Given the description of an element on the screen output the (x, y) to click on. 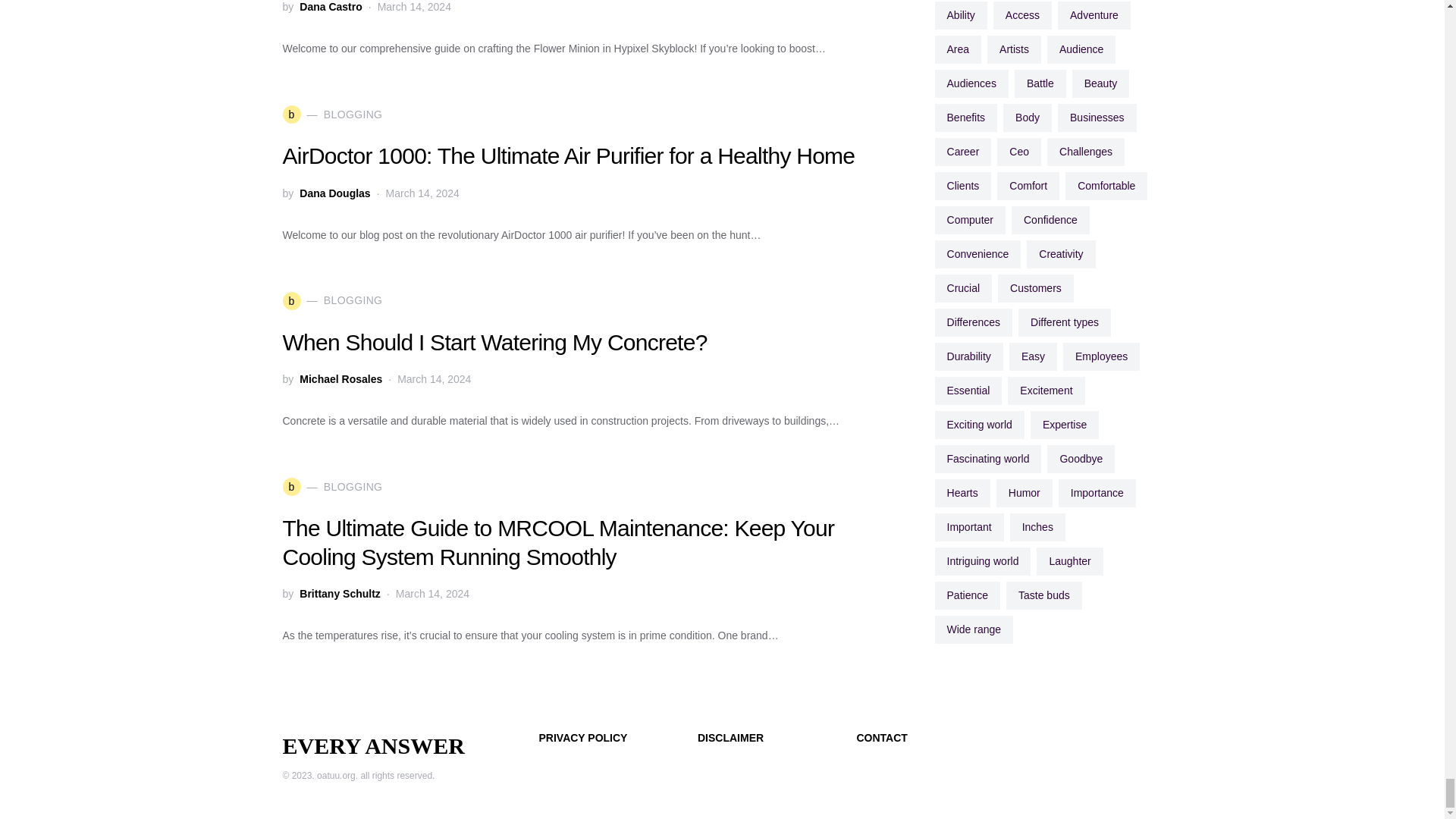
View all posts by Dana Douglas (334, 192)
View all posts by Brittany Schultz (339, 593)
View all posts by Dana Castro (330, 8)
View all posts by Michael Rosales (340, 378)
